Given the description of an element on the screen output the (x, y) to click on. 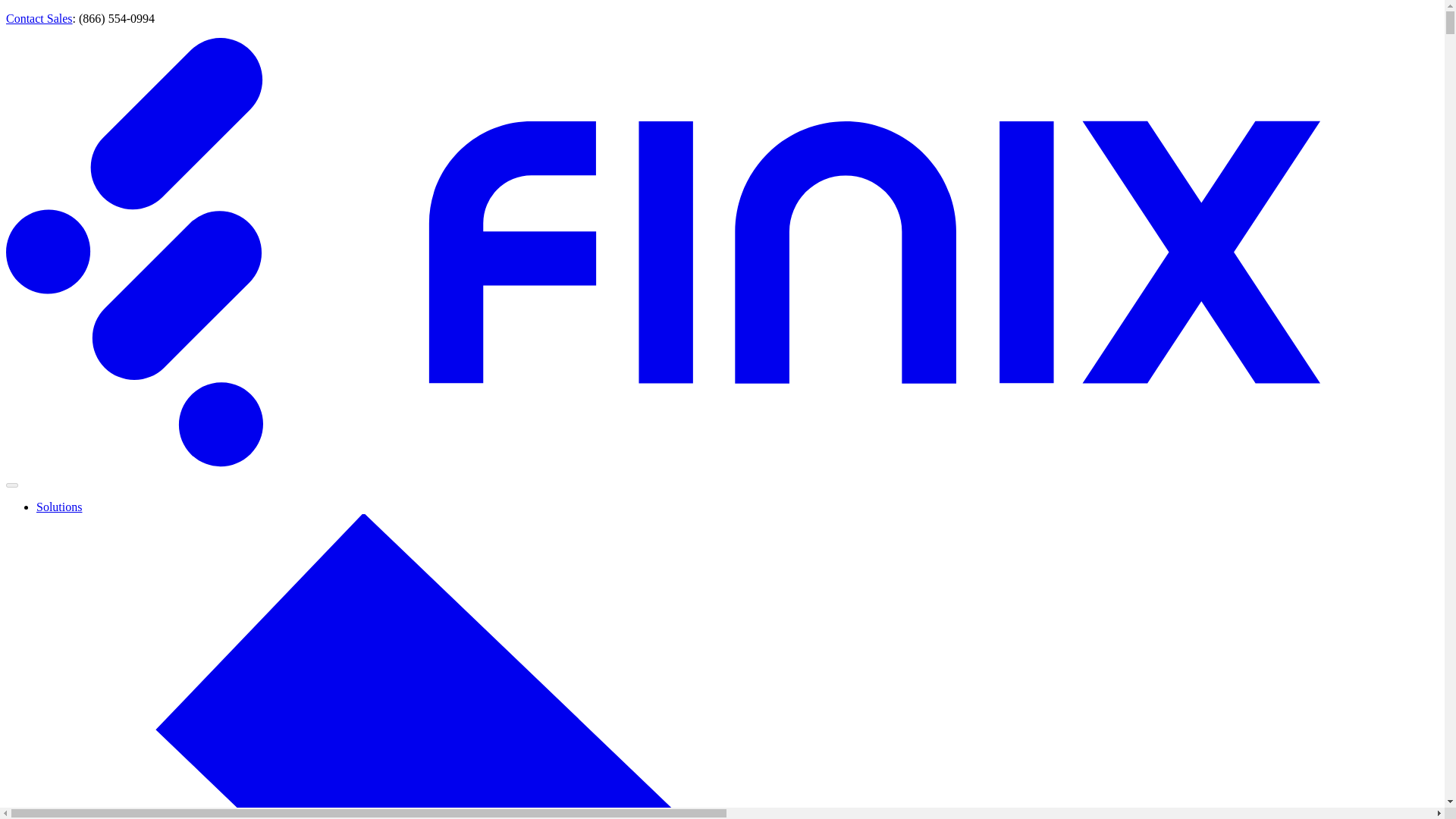
Contact Sales (38, 18)
